Given the description of an element on the screen output the (x, y) to click on. 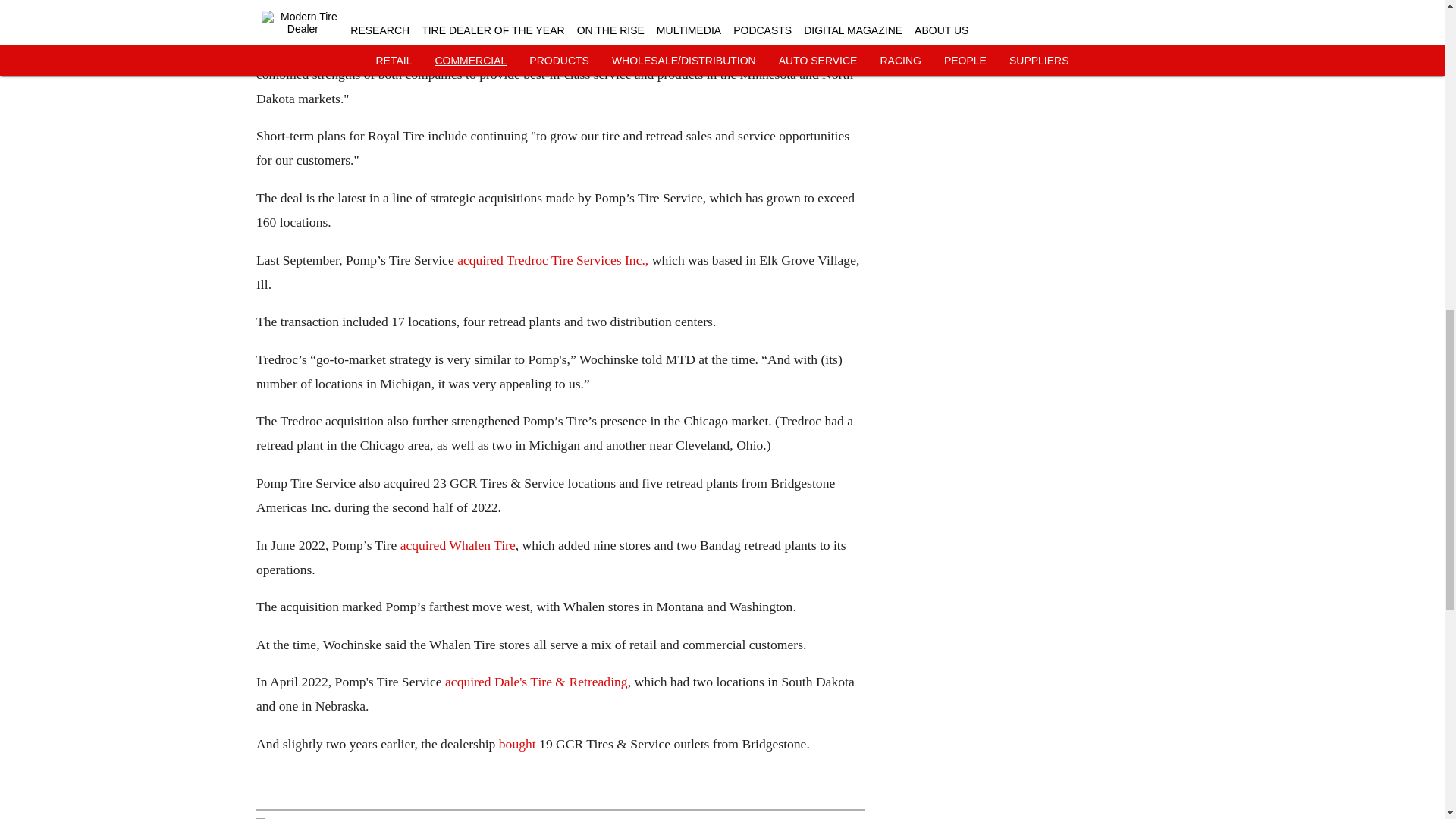
bought (516, 743)
acquired Tredroc Tire Services Inc., (552, 258)
acquired Whalen Tire (456, 544)
